Given the description of an element on the screen output the (x, y) to click on. 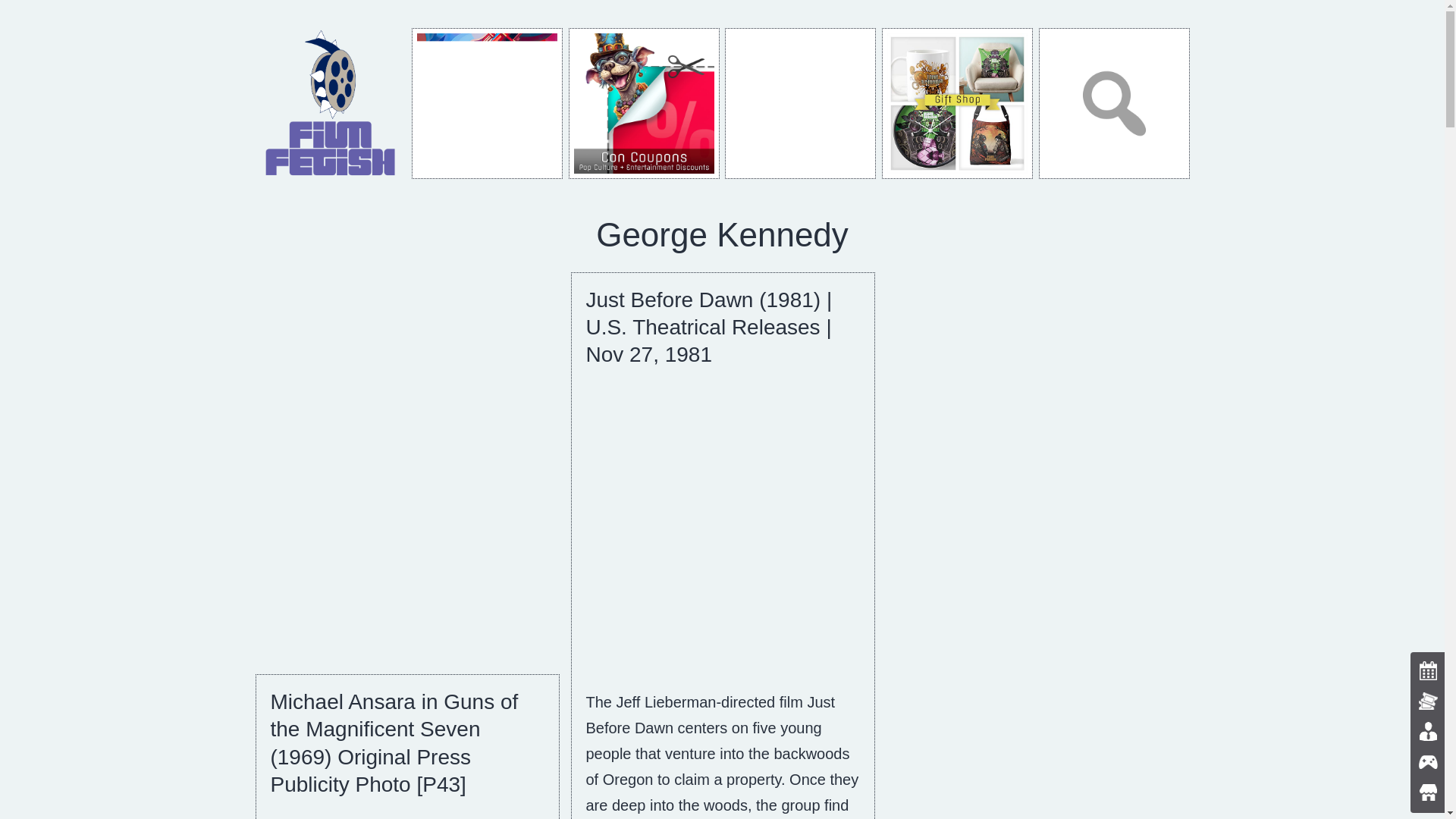
Crush Collectibles (800, 103)
Home (330, 102)
Film Fetish Official Shop (957, 103)
Search (1114, 103)
Film Fetish Home (330, 103)
Fan Calendar (487, 103)
Con Coupons (644, 103)
